Given the description of an element on the screen output the (x, y) to click on. 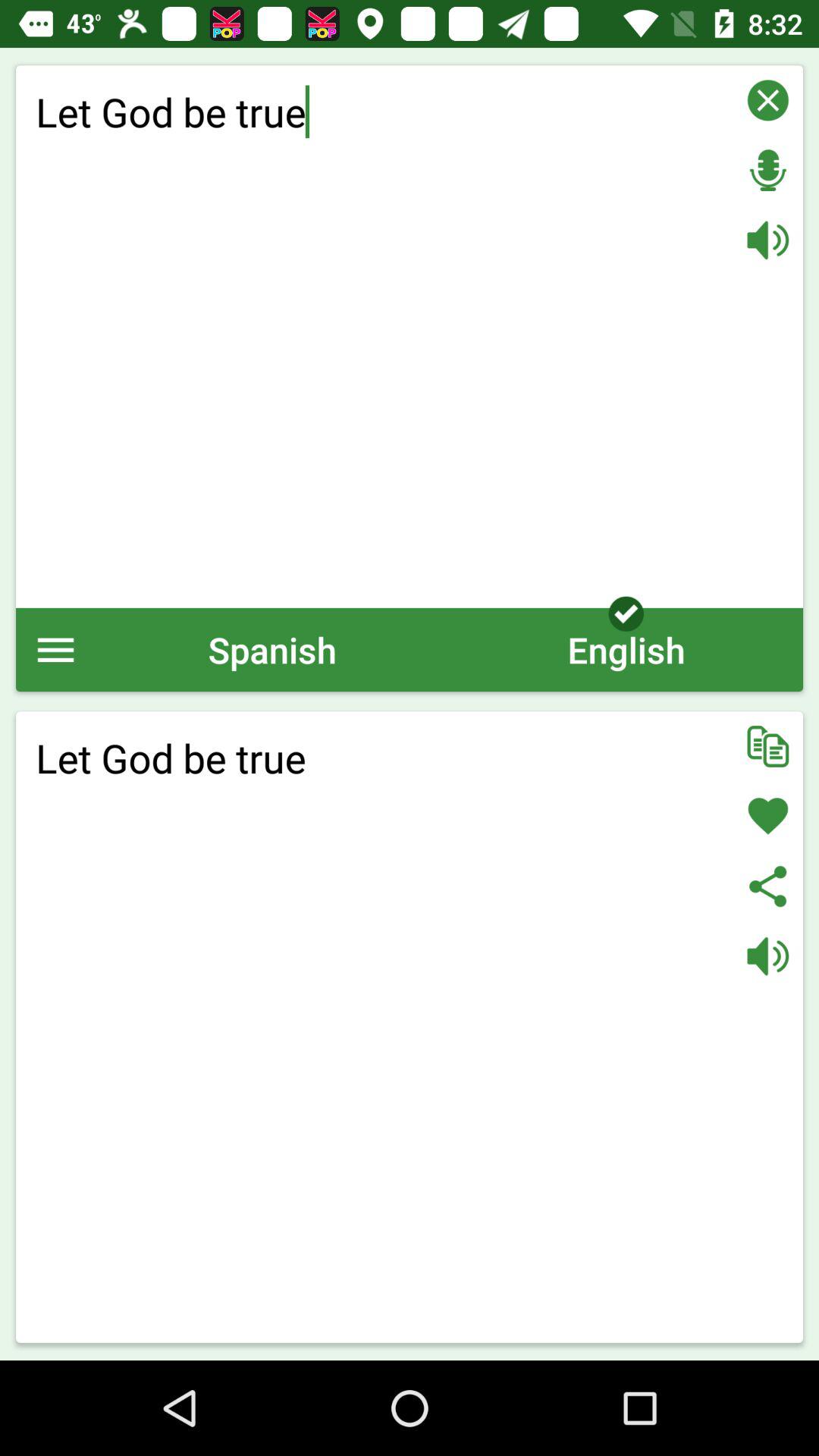
start dictation (768, 170)
